Given the description of an element on the screen output the (x, y) to click on. 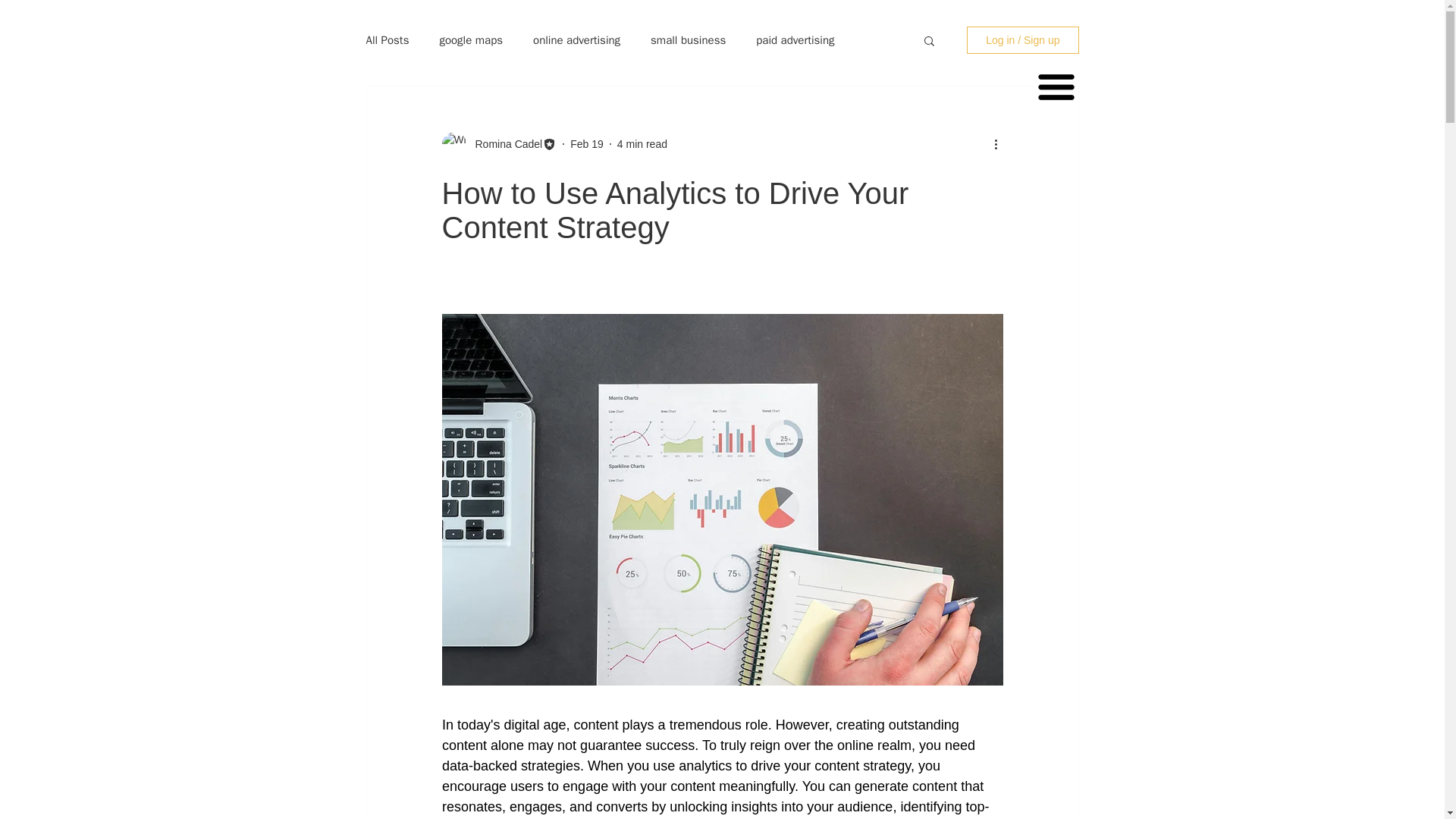
online advertising (576, 40)
Romina Cadel (503, 144)
paid advertising (794, 40)
All Posts (387, 40)
Feb 19 (587, 143)
4 min read (641, 143)
small business (687, 40)
google maps (470, 40)
